Given the description of an element on the screen output the (x, y) to click on. 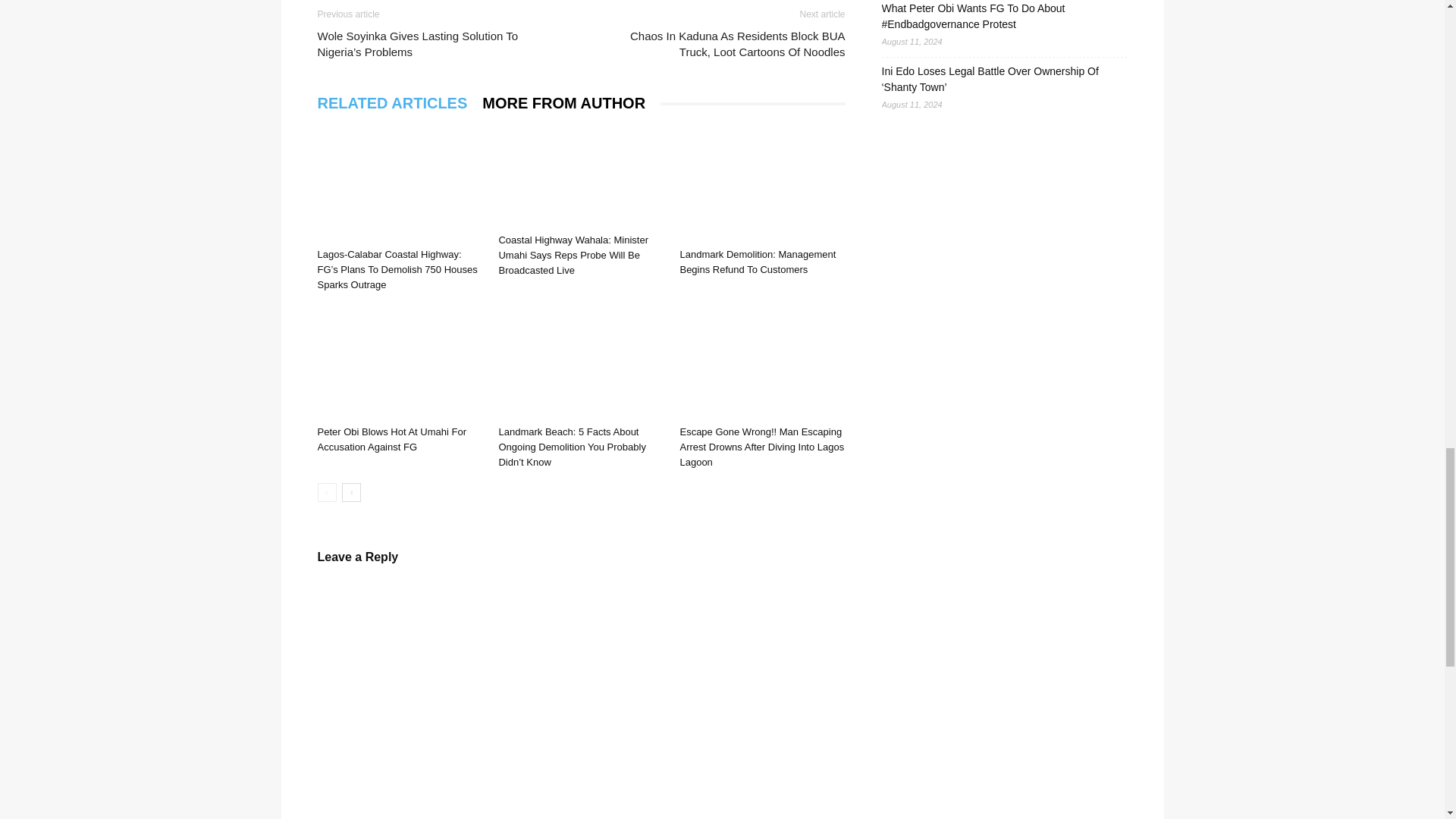
Landmark Demolition: Management Begins Refund To Customers (761, 184)
Peter Obi Blows Hot At Umahi For Accusation Against FG (399, 362)
Landmark Demolition: Management Begins Refund To Customers (757, 261)
Peter Obi Blows Hot At Umahi For Accusation Against FG (391, 438)
